Given the description of an element on the screen output the (x, y) to click on. 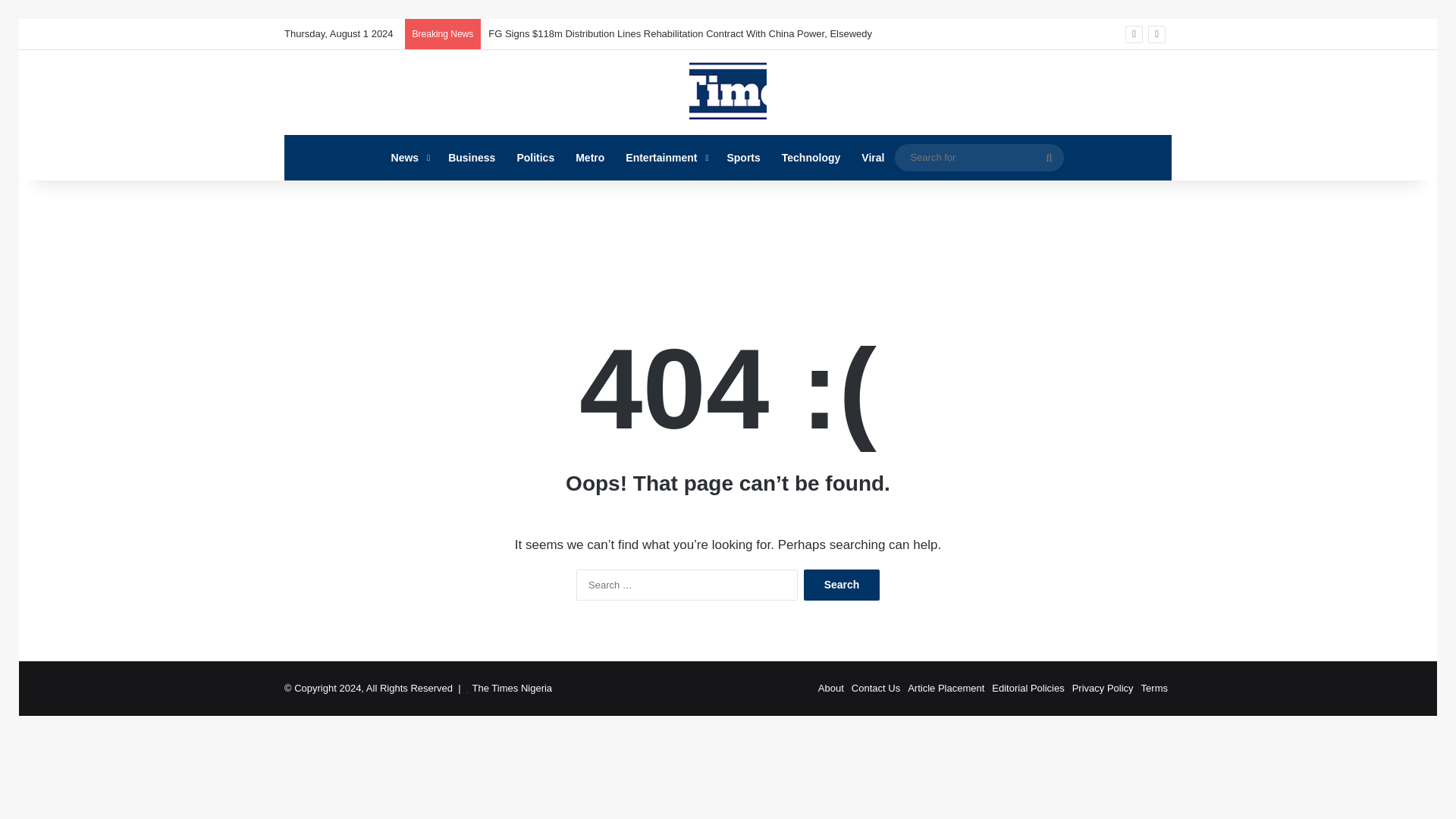
Technology (811, 157)
Terms (1154, 687)
News (409, 157)
The Times Nigeria (511, 687)
Viral (872, 157)
Privacy Policy (1102, 687)
Sports (743, 157)
Article Placement (945, 687)
Search (841, 584)
TheTimes.com.ng (727, 92)
Business (471, 157)
Entertainment (665, 157)
Search for (1048, 157)
Search (841, 584)
3rd party ad content (727, 229)
